Given the description of an element on the screen output the (x, y) to click on. 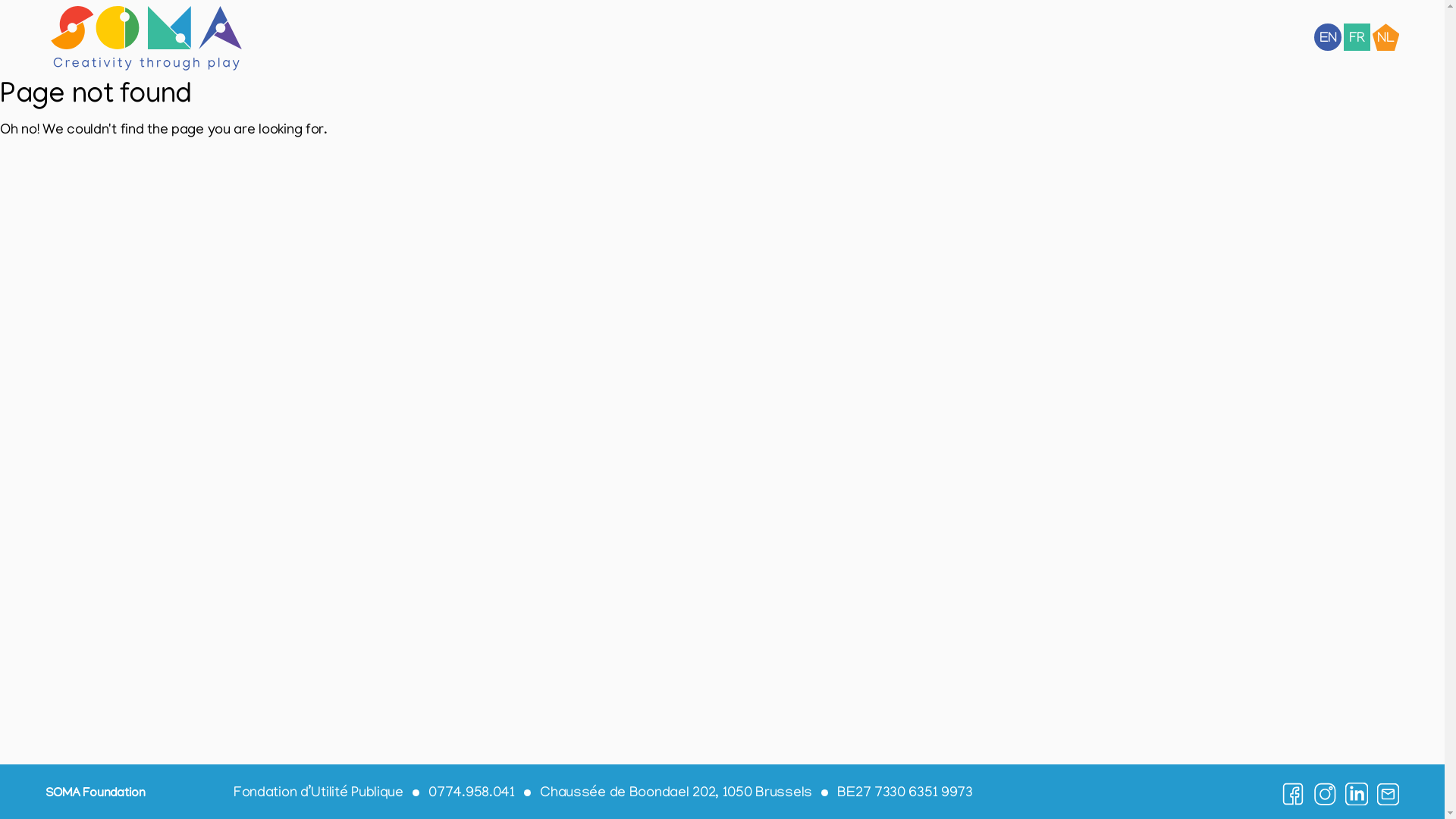
EN Element type: text (1327, 36)
NL Element type: text (1385, 36)
Send us an e-mail Element type: text (1388, 793)
0774.958.041 Element type: text (463, 793)
FR Element type: text (1357, 36)
Visit our LinkedIn Element type: text (1356, 793)
Visit our Facebook Element type: text (1292, 793)
Visit our Instagram Element type: text (1324, 793)
